Given the description of an element on the screen output the (x, y) to click on. 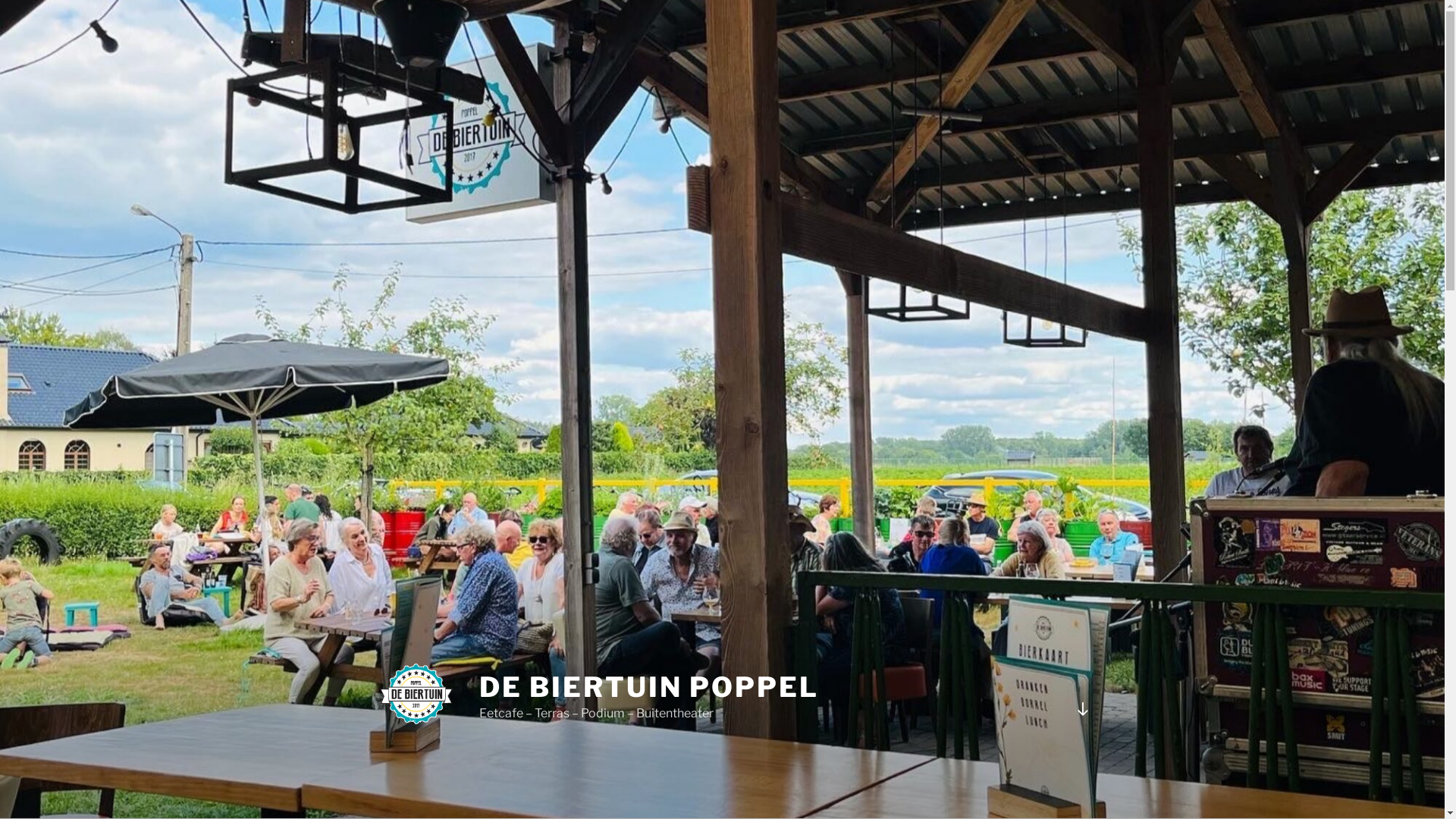
Naar beneden scrollen naar inhoud Element type: text (1082, 708)
DE BIERTUIN POPPEL Element type: text (649, 686)
Naar de inhoud springen Element type: text (0, 0)
